Given the description of an element on the screen output the (x, y) to click on. 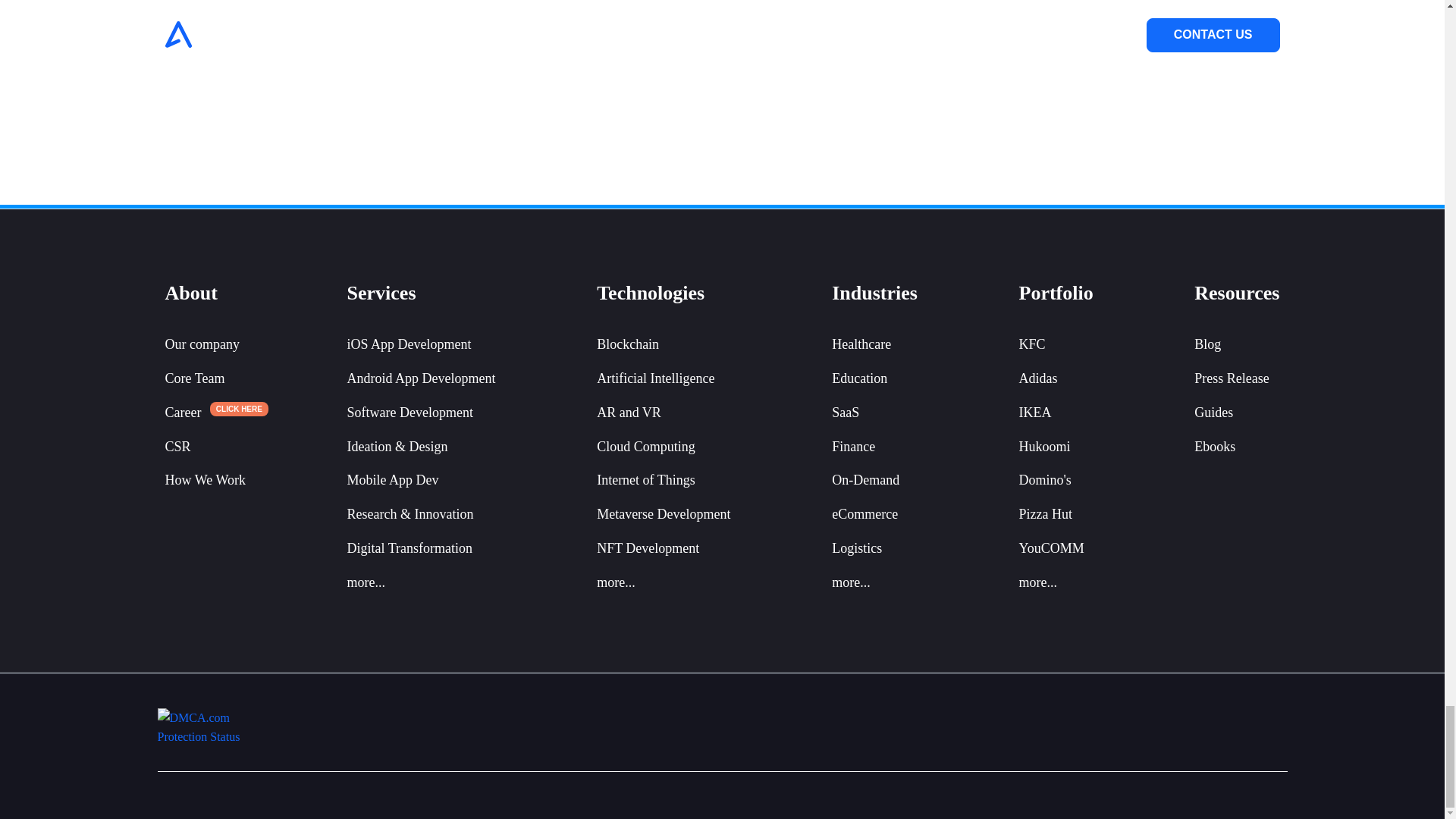
DMCA.com Protection Status (204, 725)
